Given the description of an element on the screen output the (x, y) to click on. 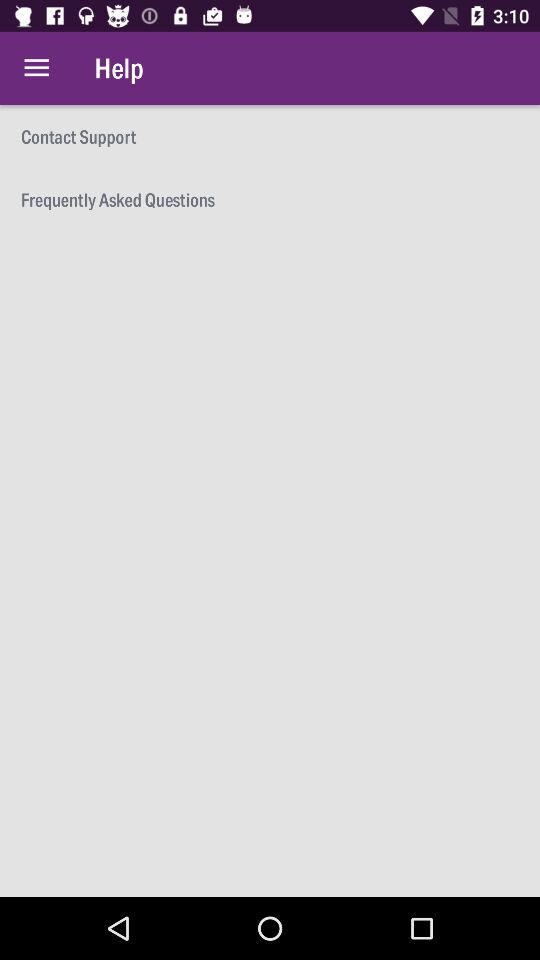
launch icon next to help icon (36, 68)
